Given the description of an element on the screen output the (x, y) to click on. 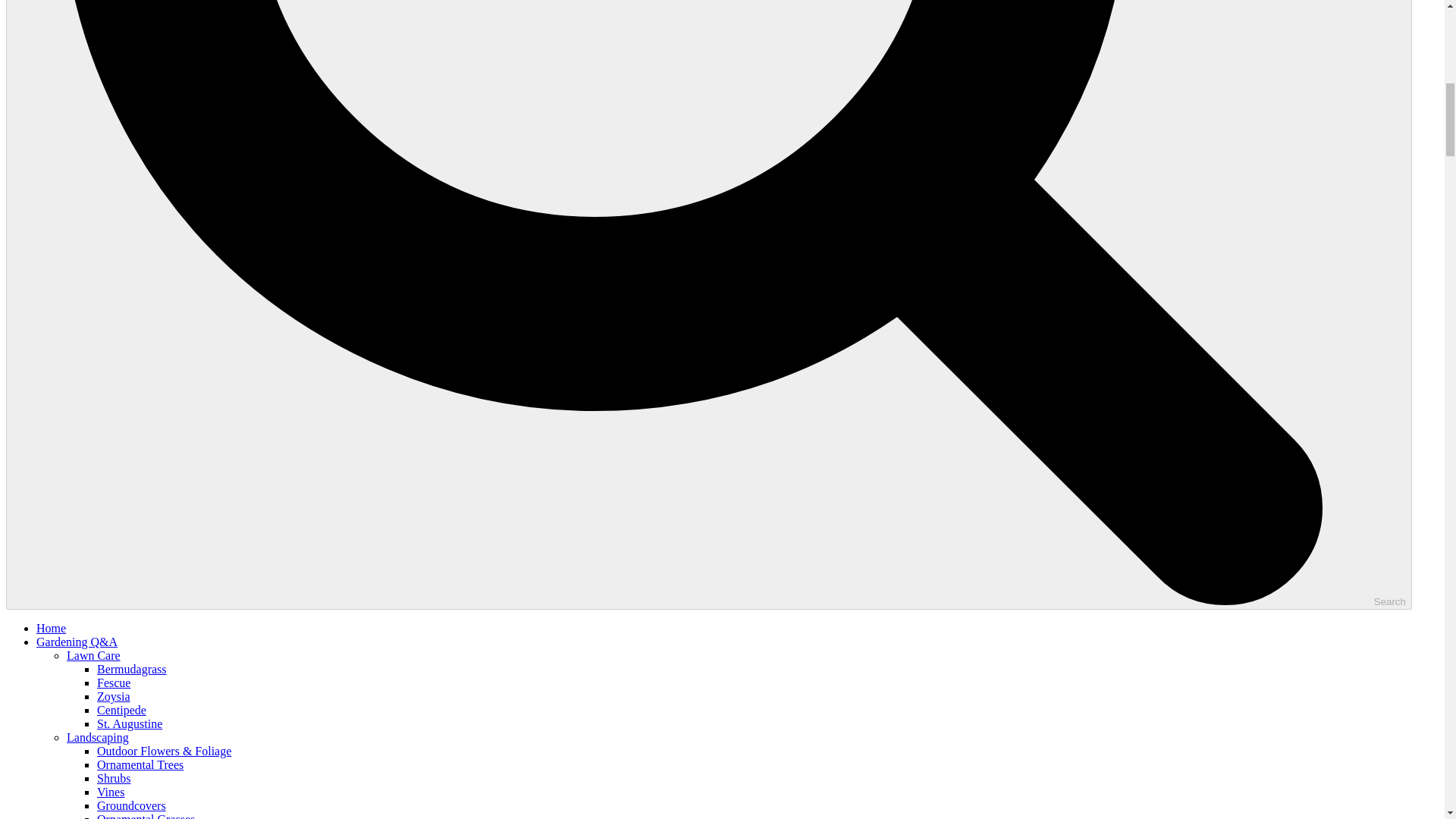
Groundcovers (131, 805)
Fescue (114, 682)
St. Augustine (129, 723)
Zoysia (114, 696)
Lawn Care (93, 655)
Home (50, 627)
Centipede (122, 709)
Ornamental Grasses (146, 816)
Shrubs (114, 778)
Bermudagrass (132, 668)
Vines (110, 791)
Ornamental Trees (140, 764)
Landscaping (97, 737)
